Given the description of an element on the screen output the (x, y) to click on. 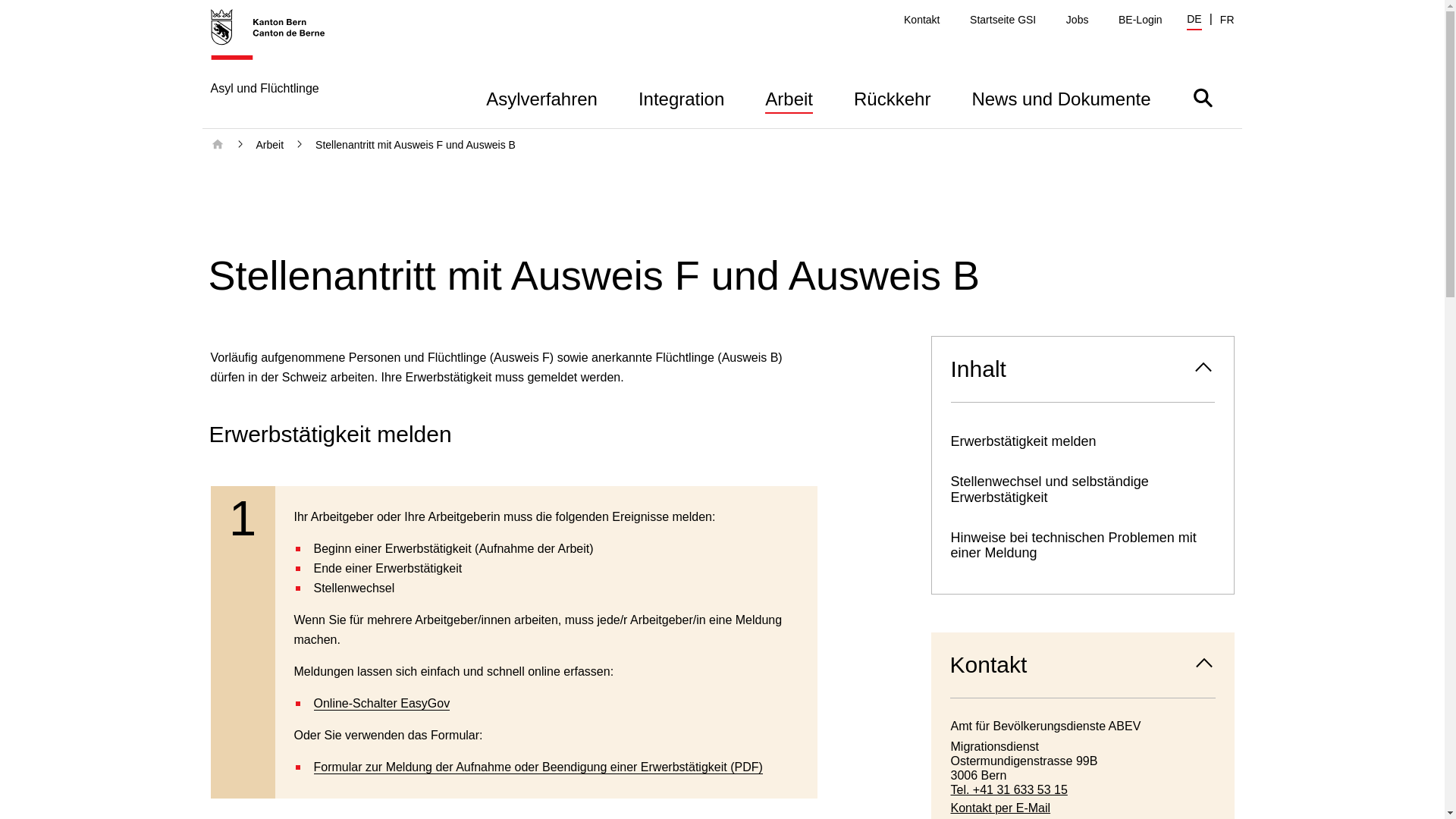
Hinweise bei technischen Problemen mit einer Meldung Element type: text (1082, 545)
Startseite Element type: text (217, 144)
Tel. +41 31 633 53 15 Element type: text (1082, 789)
Arbeit Element type: text (788, 96)
Online-Schalter EasyGov Element type: text (381, 703)
Inhalt Element type: text (1082, 368)
Startseite GSI Element type: text (1002, 19)
News und Dokumente Element type: text (1060, 96)
Jobs Element type: text (1077, 19)
DE Element type: text (1193, 21)
FR Element type: text (1227, 19)
Kontakt Element type: text (921, 19)
Asylverfahren Element type: text (541, 96)
Arbeit Element type: text (270, 144)
Kontakt per E-Mail Element type: text (1082, 807)
BE-Login Element type: text (1140, 19)
Integration Element type: text (681, 96)
Suche ein- oder ausblenden Element type: text (1201, 96)
Stellenantritt mit Ausweis F und Ausweis B Element type: text (415, 144)
Kontakt Element type: text (1082, 664)
